Given the description of an element on the screen output the (x, y) to click on. 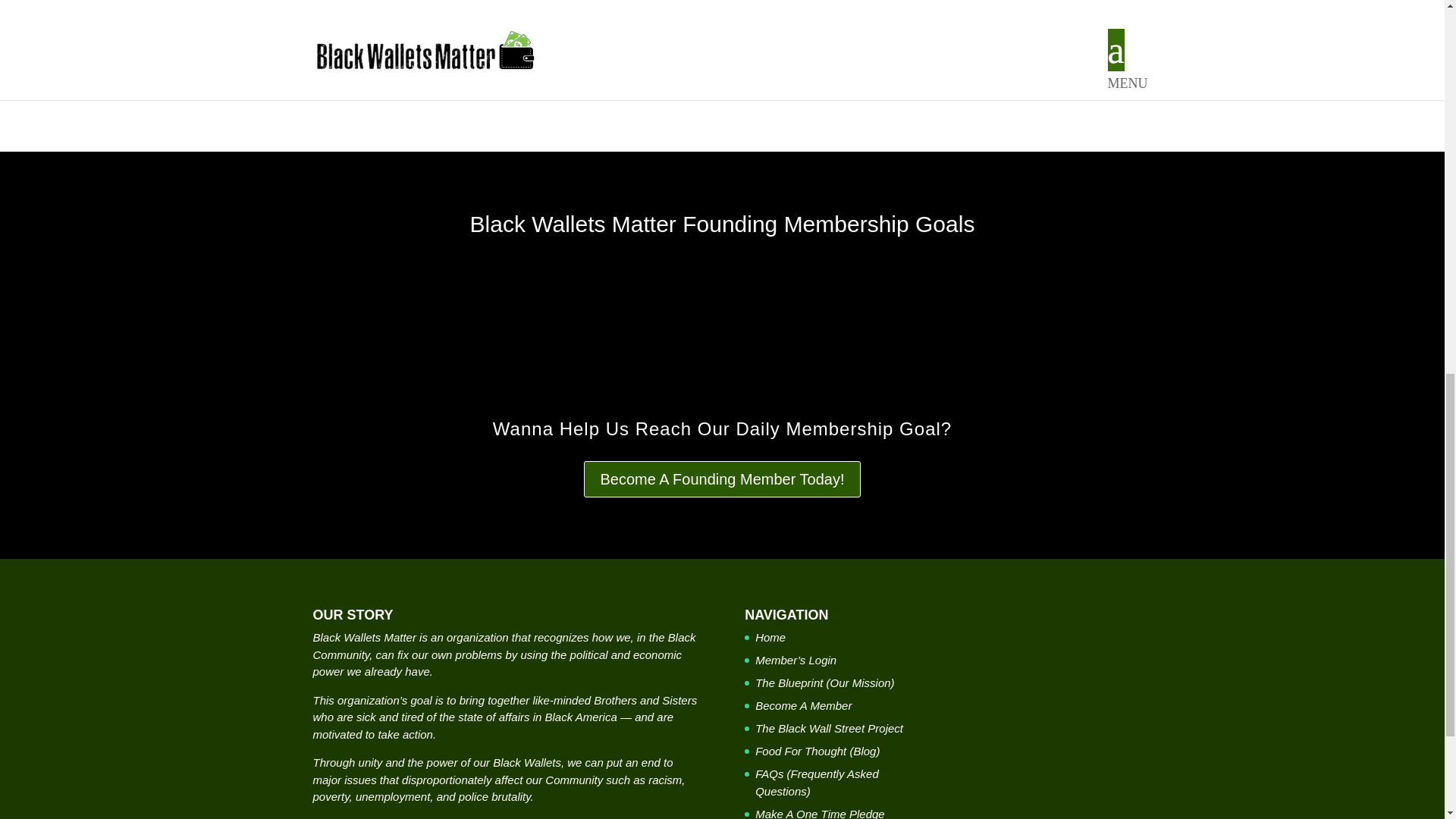
Make A One Time Pledge (820, 813)
Home (770, 636)
The Black Wall Street Project (828, 727)
Become A Member (803, 705)
Become A Founding Member Today! (721, 479)
